Given the description of an element on the screen output the (x, y) to click on. 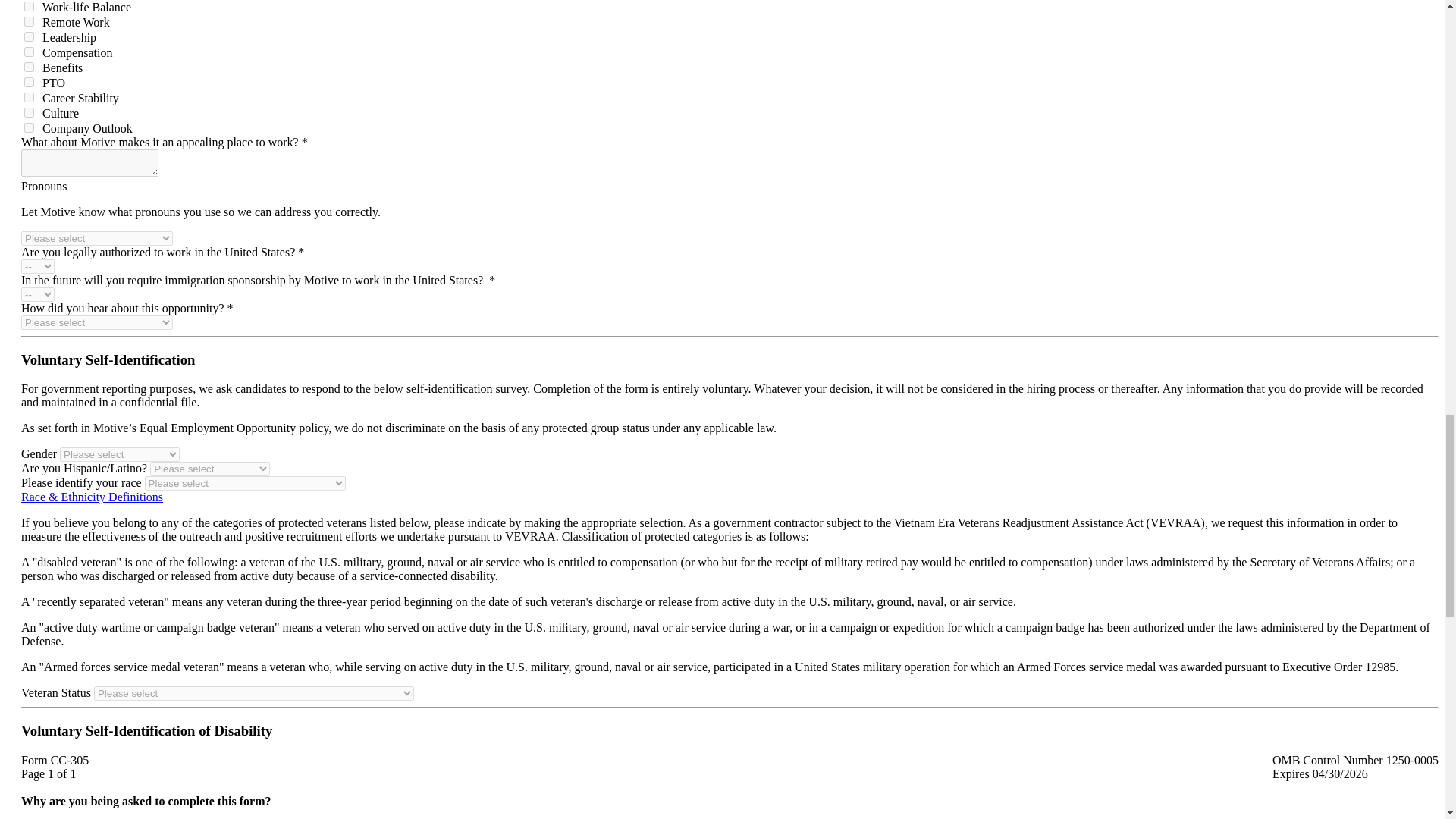
141925111002 (28, 112)
141925105002 (28, 21)
141925106002 (28, 36)
141925110002 (28, 97)
141925107002 (28, 51)
141925112002 (28, 127)
141925109002 (28, 81)
141925104002 (28, 6)
141925108002 (28, 67)
